Given the description of an element on the screen output the (x, y) to click on. 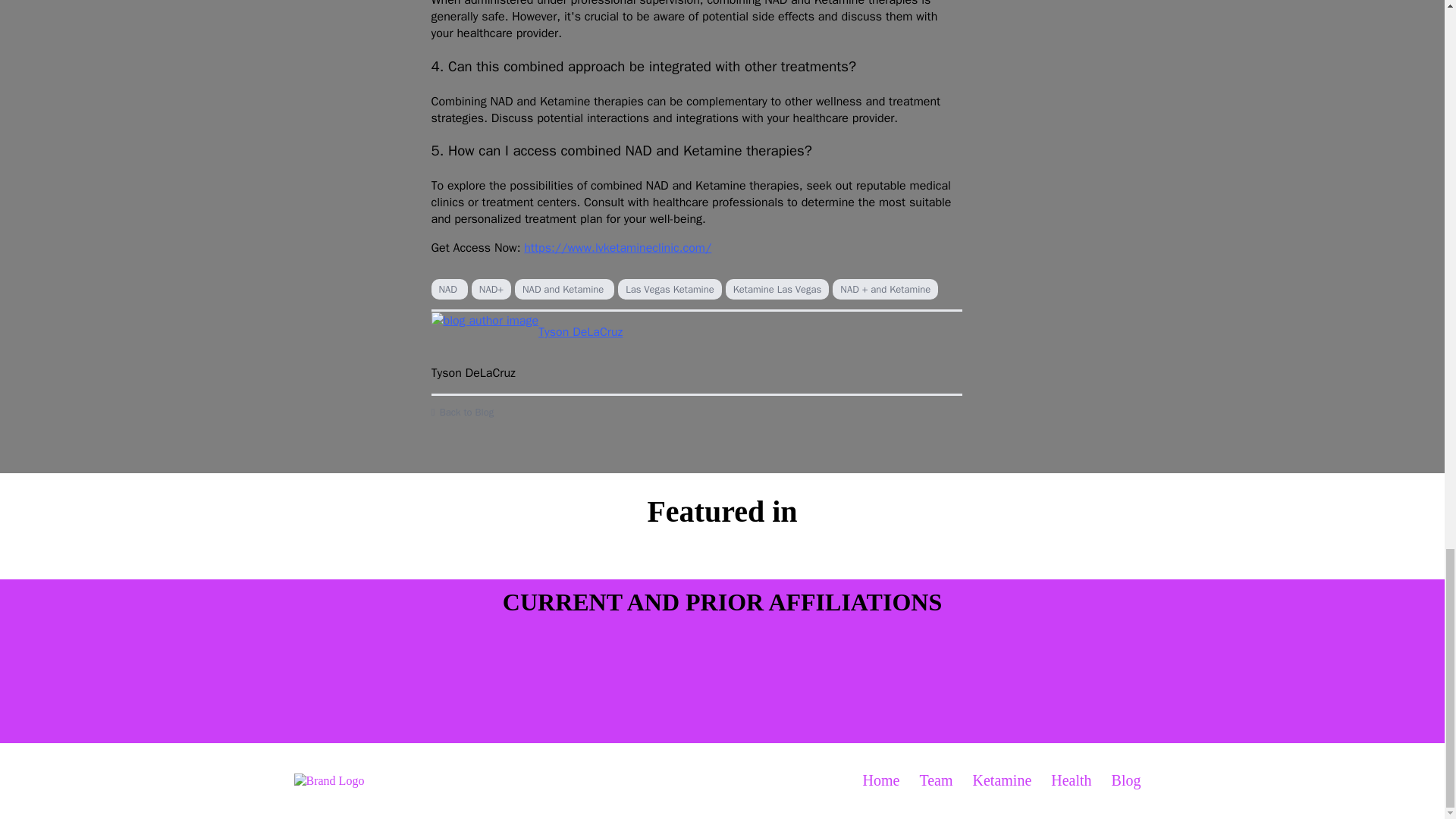
Tyson DeLaCruz (695, 332)
Team (935, 780)
Ketamine (1002, 780)
Back to Blog (695, 412)
Home (879, 780)
Blog (1126, 780)
Health (1070, 780)
